Given the description of an element on the screen output the (x, y) to click on. 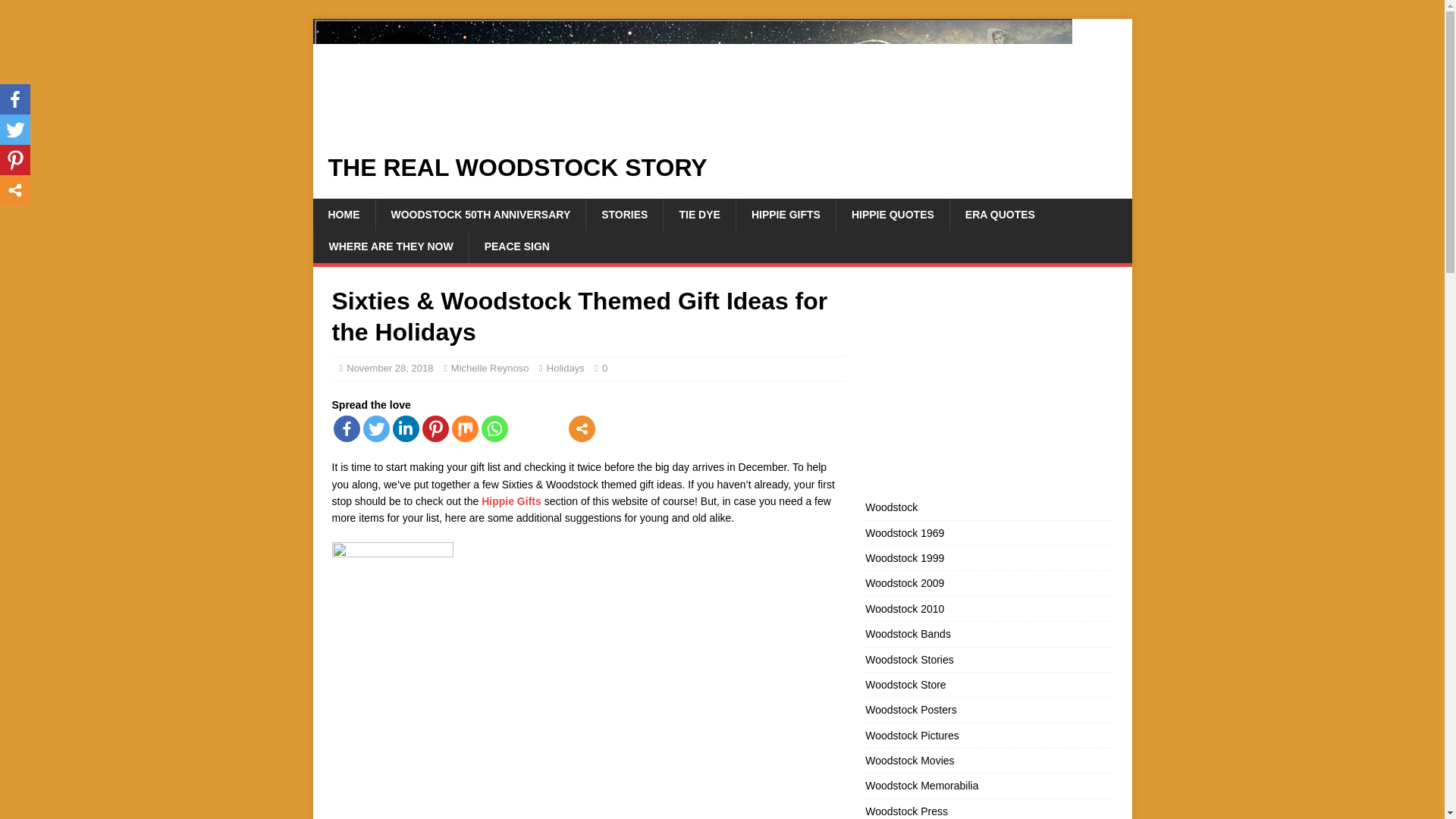
HOME (343, 214)
Facebook (15, 99)
HIPPIE GIFTS (785, 214)
Pinterest (435, 428)
More (582, 428)
Twitter (375, 428)
Facebook (346, 428)
Linkedin (406, 428)
STORIES (623, 214)
THE REAL WOODSTOCK STORY (721, 167)
